Given the description of an element on the screen output the (x, y) to click on. 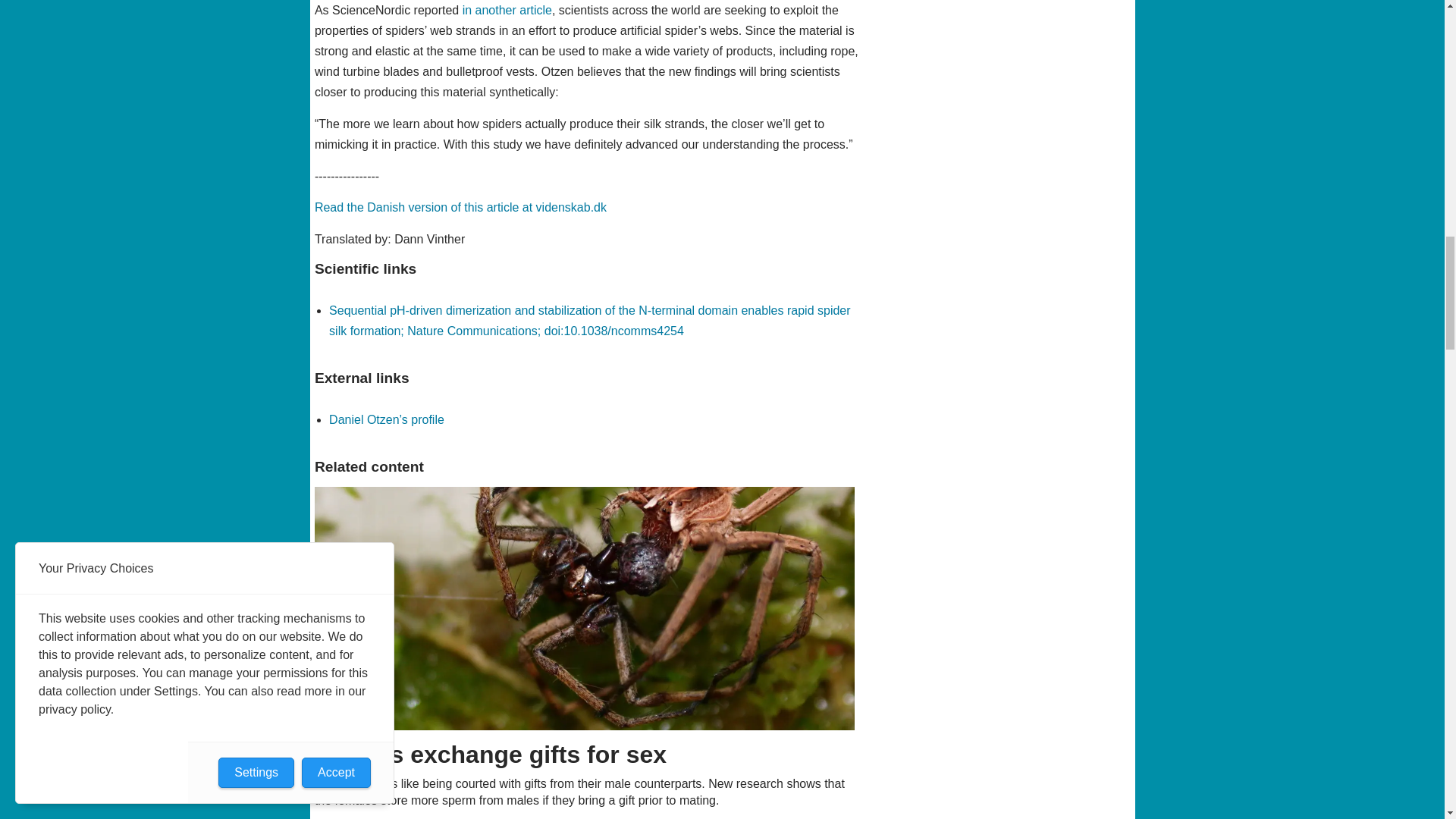
Spiders exchange gifts for sex (585, 608)
Read the Danish version of this article at videnskab.dk (460, 206)
in another article (507, 10)
